Given the description of an element on the screen output the (x, y) to click on. 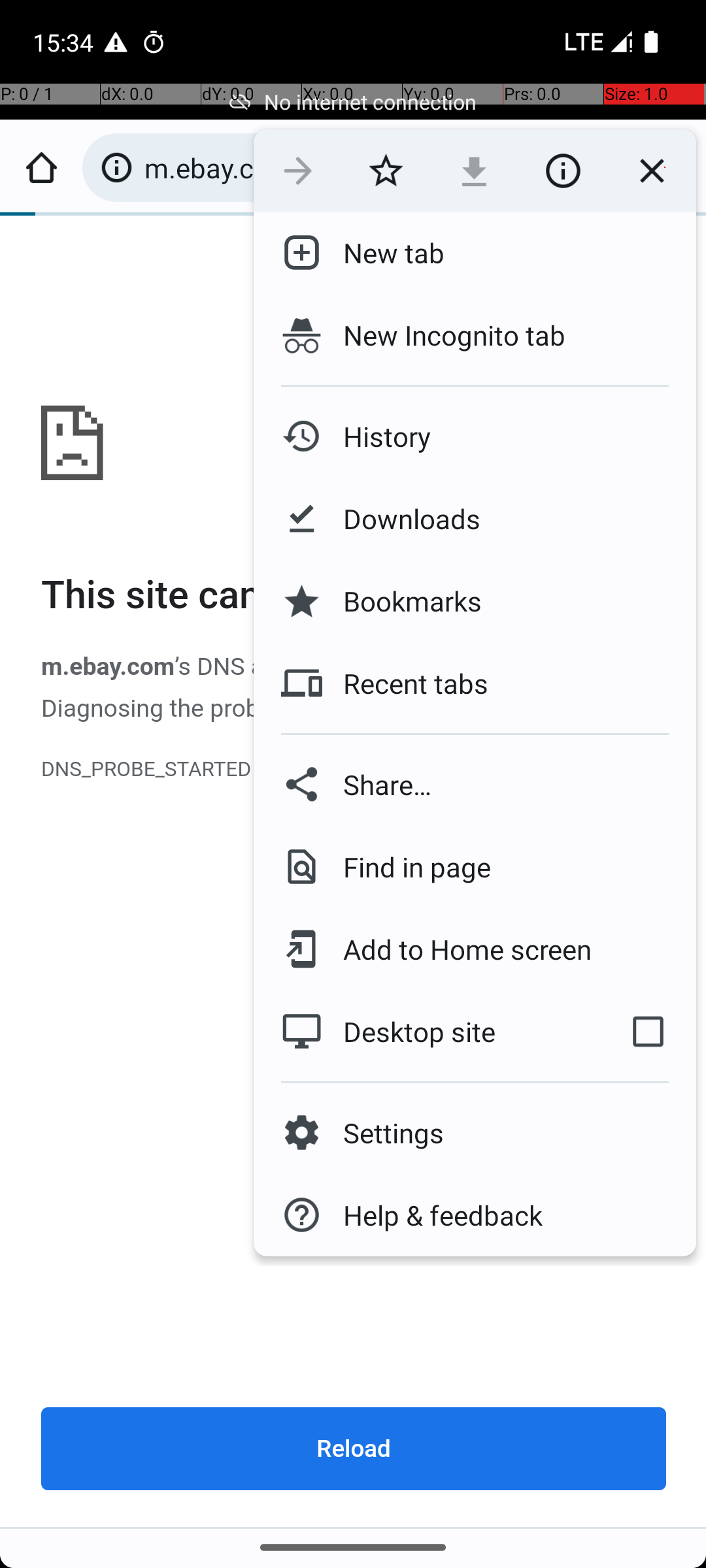
Forward Element type: android.widget.ImageButton (297, 170)
Bookmark Element type: android.widget.ImageButton (385, 170)
Download Element type: android.widget.ImageButton (474, 170)
Page info Element type: android.widget.ImageButton (562, 170)
Stop refreshing Element type: android.widget.ImageButton (651, 170)
New tab Element type: android.widget.TextView (383, 252)
New Incognito tab Element type: android.widget.TextView (474, 335)
History Element type: android.widget.TextView (376, 436)
Bookmarks Element type: android.widget.TextView (401, 600)
Recent tabs Element type: android.widget.TextView (405, 683)
Share… Element type: android.widget.TextView (474, 784)
Find in page Element type: android.widget.TextView (406, 866)
Add to Home screen Element type: android.widget.TextView (457, 949)
Desktop site Element type: android.widget.TextView (426, 1031)
Help & feedback Element type: android.widget.TextView (432, 1215)
